Given the description of an element on the screen output the (x, y) to click on. 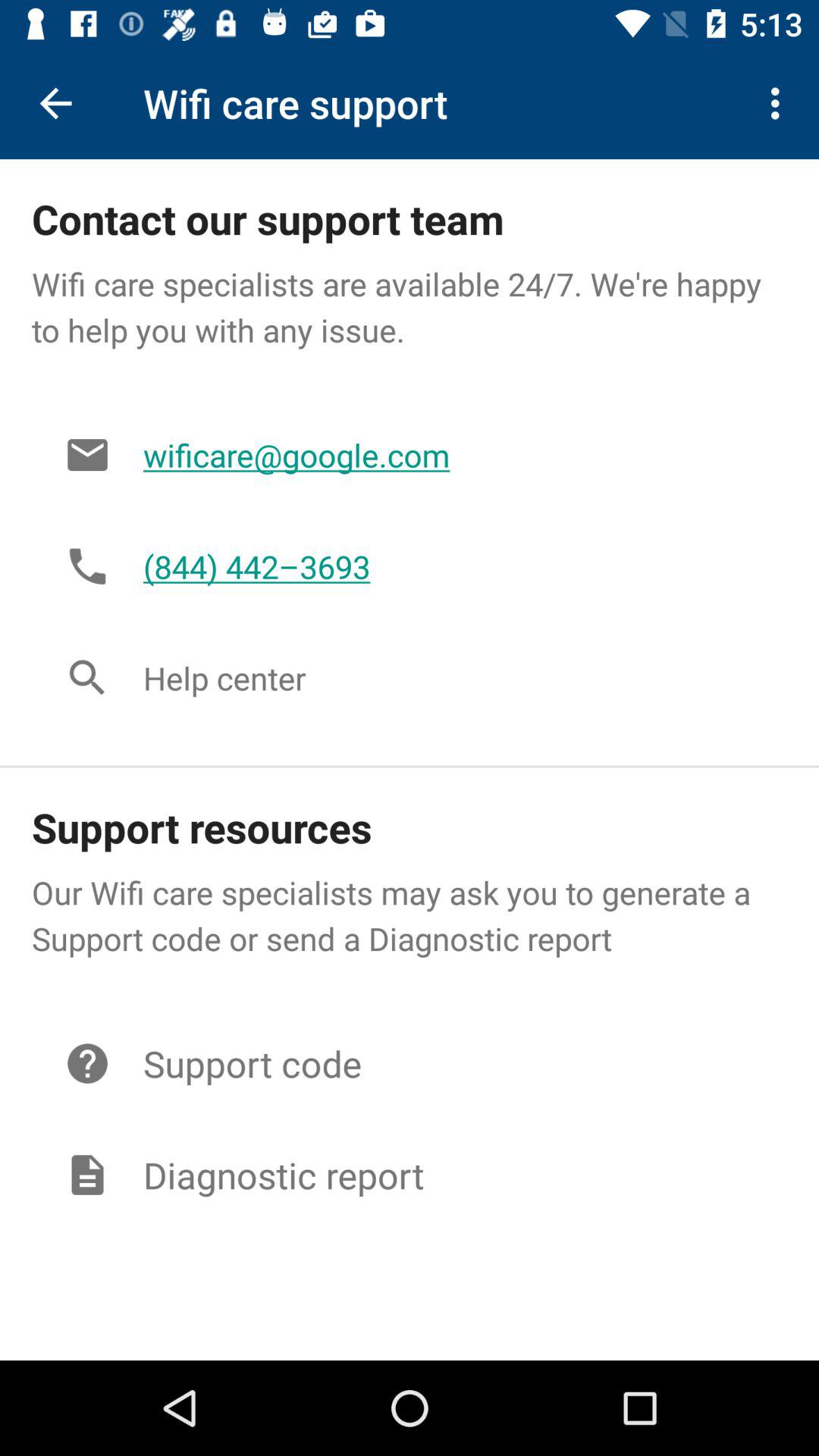
choose the icon at the top right corner (779, 103)
